Given the description of an element on the screen output the (x, y) to click on. 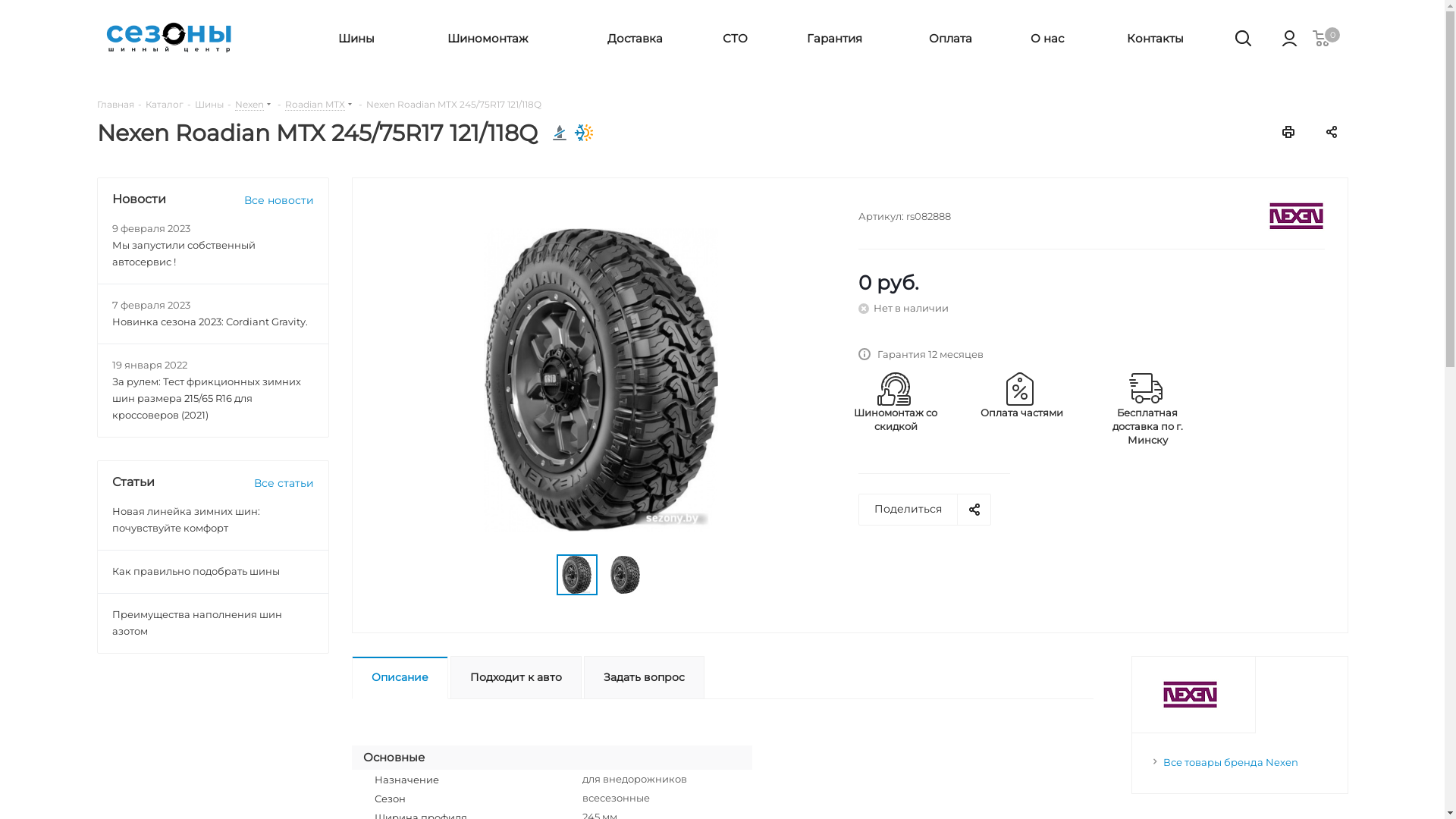
Roadian MTX Element type: text (315, 103)
Nexen Element type: hover (1295, 215)
Nexen Roadian MTX 245/75R17 121/118Q Element type: hover (600, 379)
Nexen Roadian MTX 245/75R17 121/118Q Element type: hover (625, 574)
Sezony.by Element type: hover (169, 37)
Nexen Element type: hover (1189, 694)
Nexen Element type: text (249, 103)
Nexen Roadian MTX 245/75R17 121/118Q Element type: hover (576, 574)
